Given the description of an element on the screen output the (x, y) to click on. 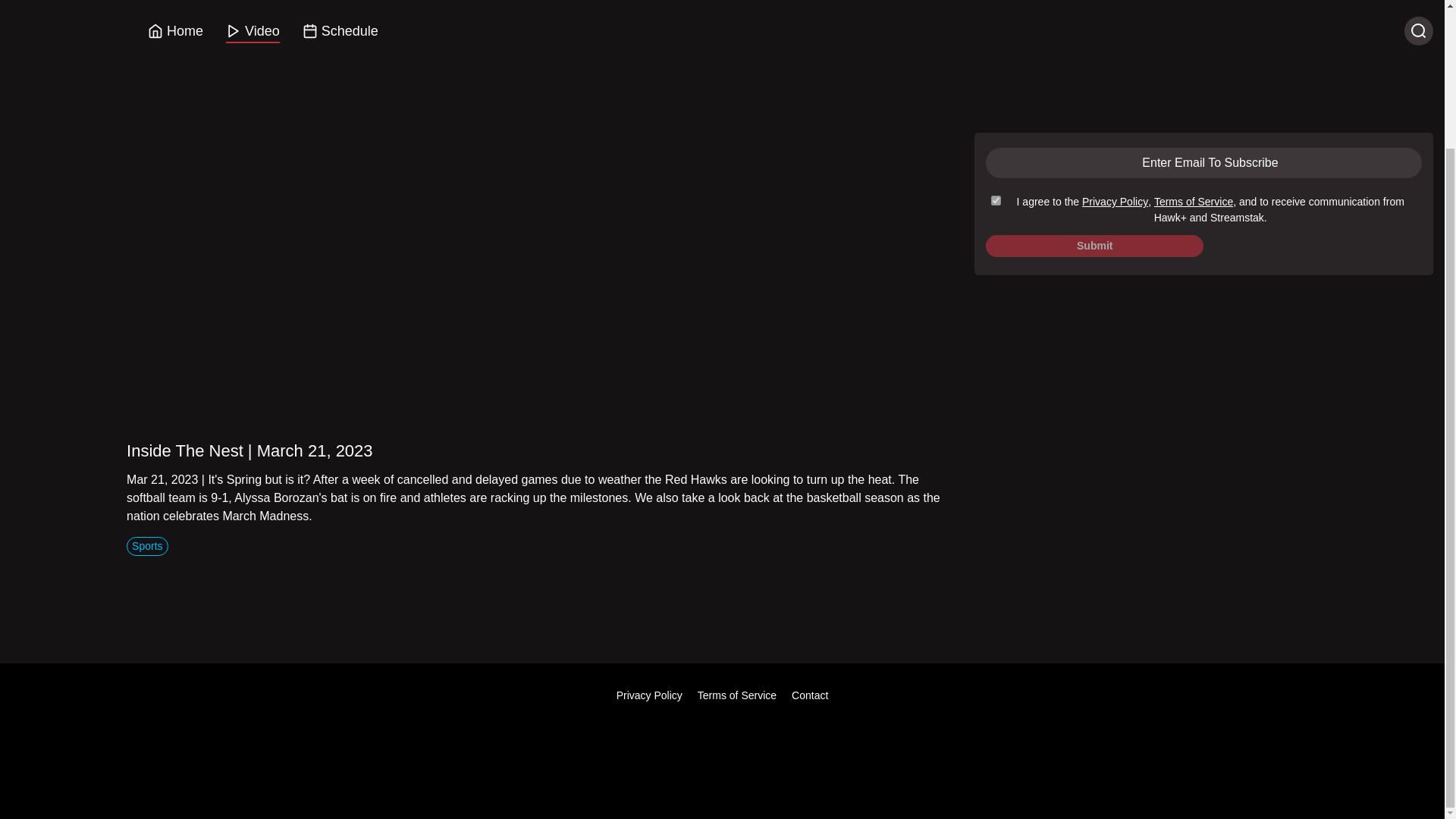
Submit (1094, 246)
Permanent Link to Fall 2023 Awards (1304, 31)
Terms of Service (736, 695)
Terms of Service (1193, 201)
Submit (1094, 246)
Fall 2023 Awards (1304, 31)
Sports (994, 77)
Contact (810, 695)
Sports (994, 76)
Sports (146, 545)
